Given the description of an element on the screen output the (x, y) to click on. 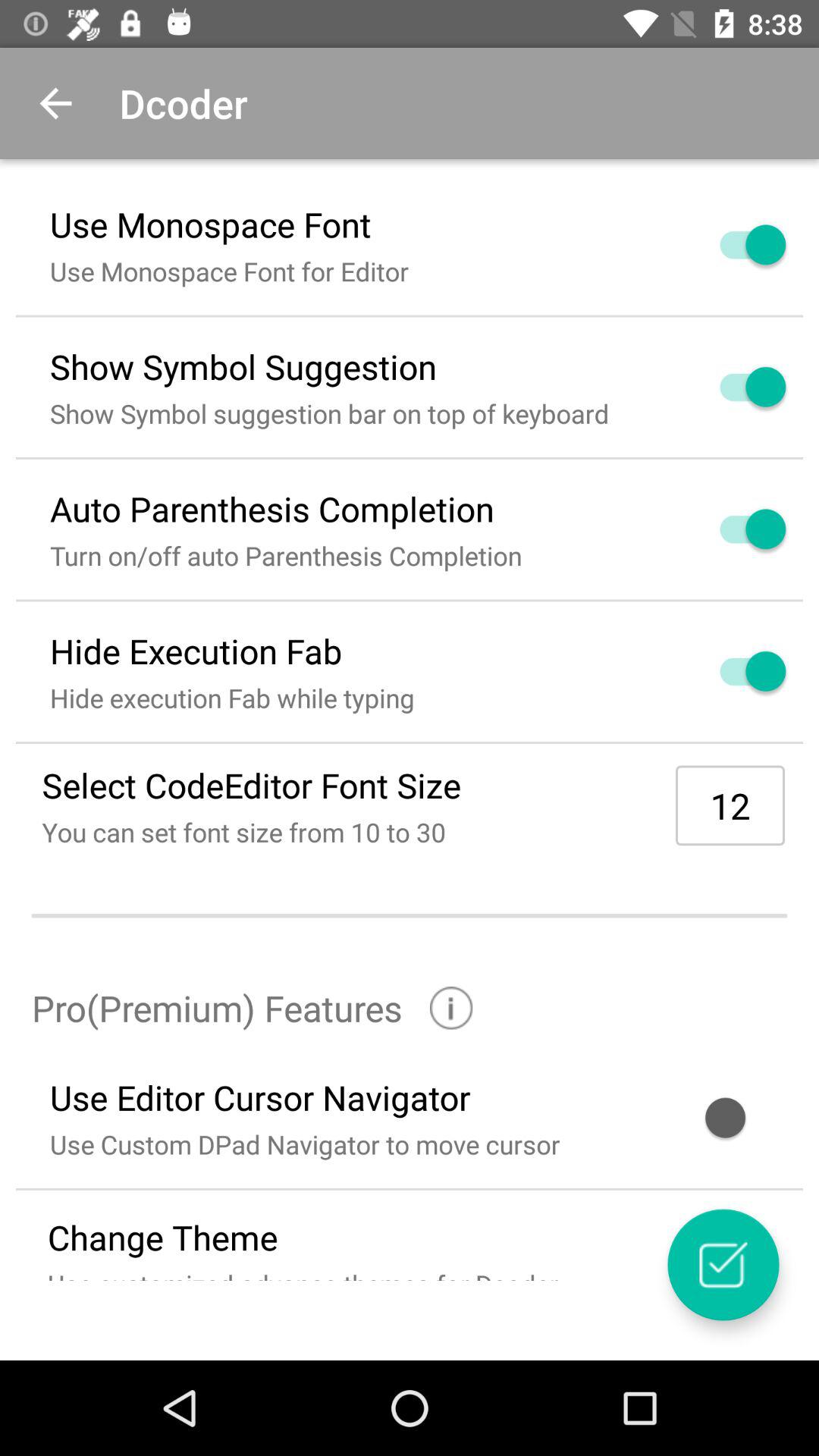
turn on or off (734, 529)
